Given the description of an element on the screen output the (x, y) to click on. 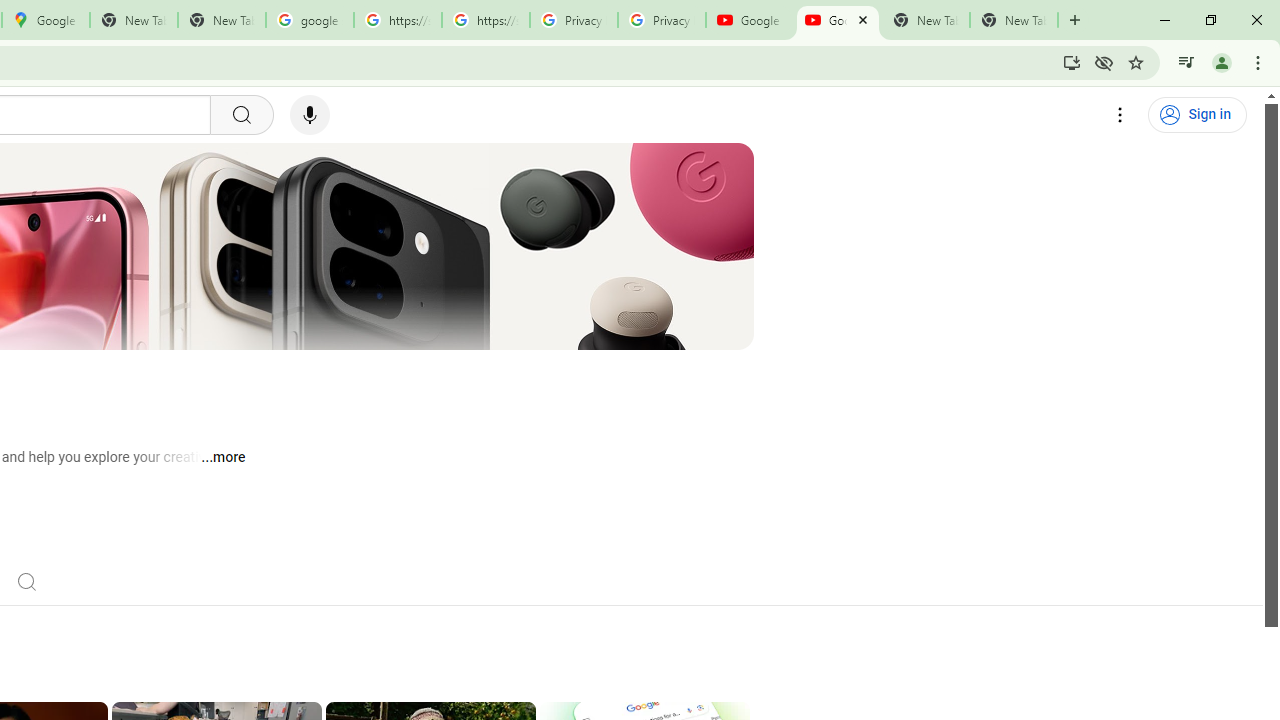
Third-party cookies blocked (1103, 62)
Sign in (1197, 115)
Control your music, videos, and more (1185, 62)
New Tab (1014, 20)
https://scholar.google.com/ (397, 20)
Settings (1119, 115)
https://scholar.google.com/ (485, 20)
Install YouTube (1071, 62)
Google - YouTube (749, 20)
Search (26, 580)
